Given the description of an element on the screen output the (x, y) to click on. 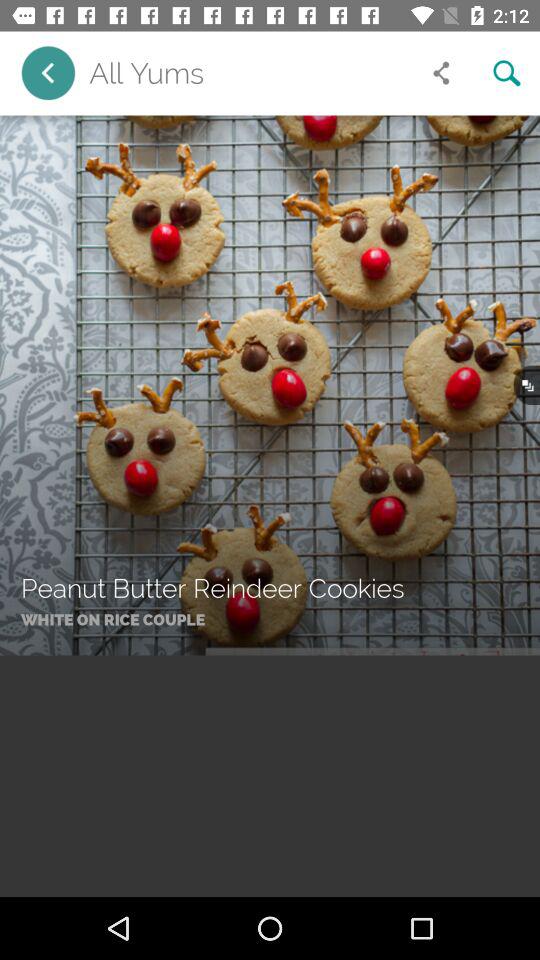
choose the icon to the left of the all yums item (48, 72)
